Given the description of an element on the screen output the (x, y) to click on. 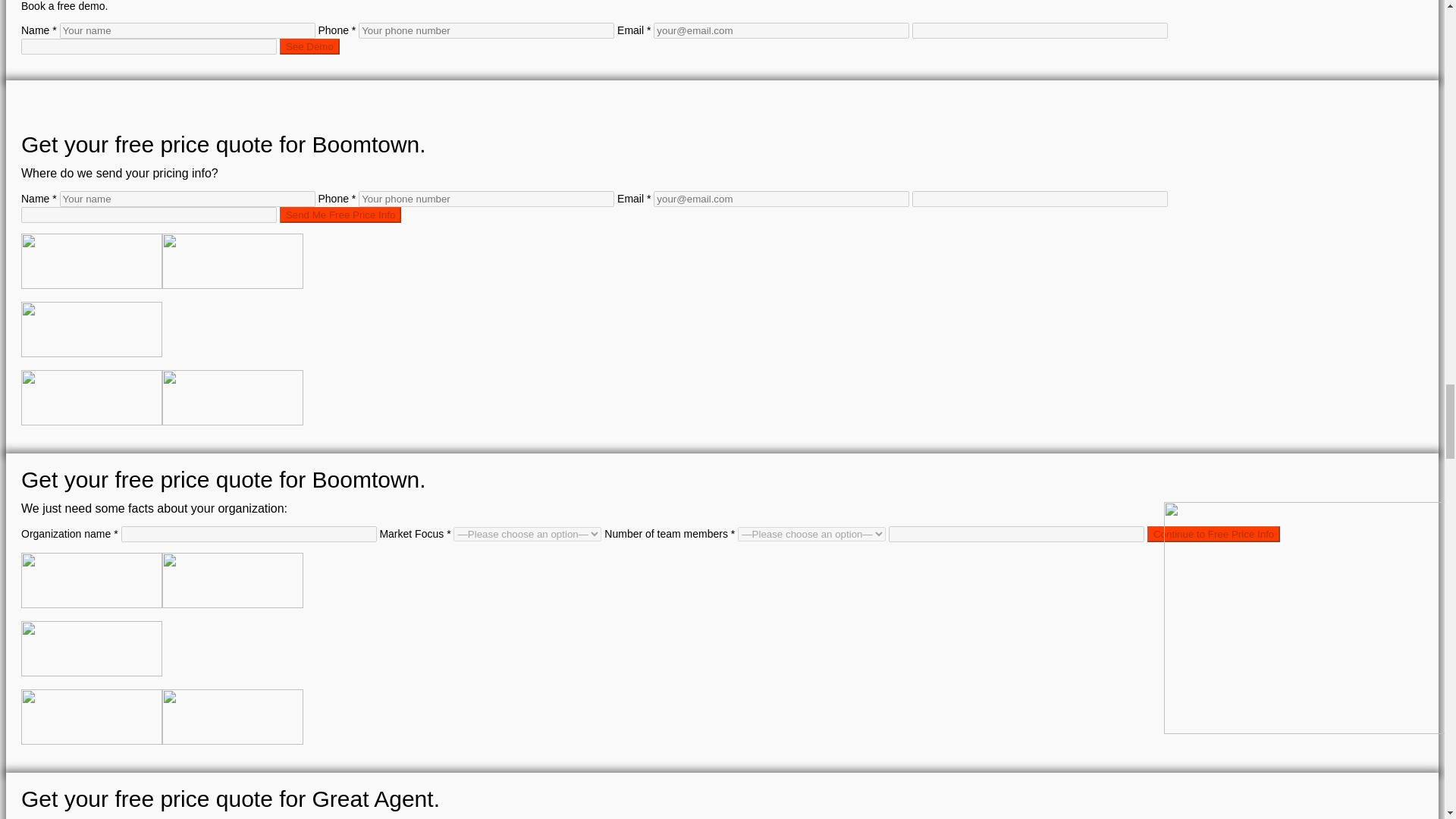
See Demo (309, 46)
